Given the description of an element on the screen output the (x, y) to click on. 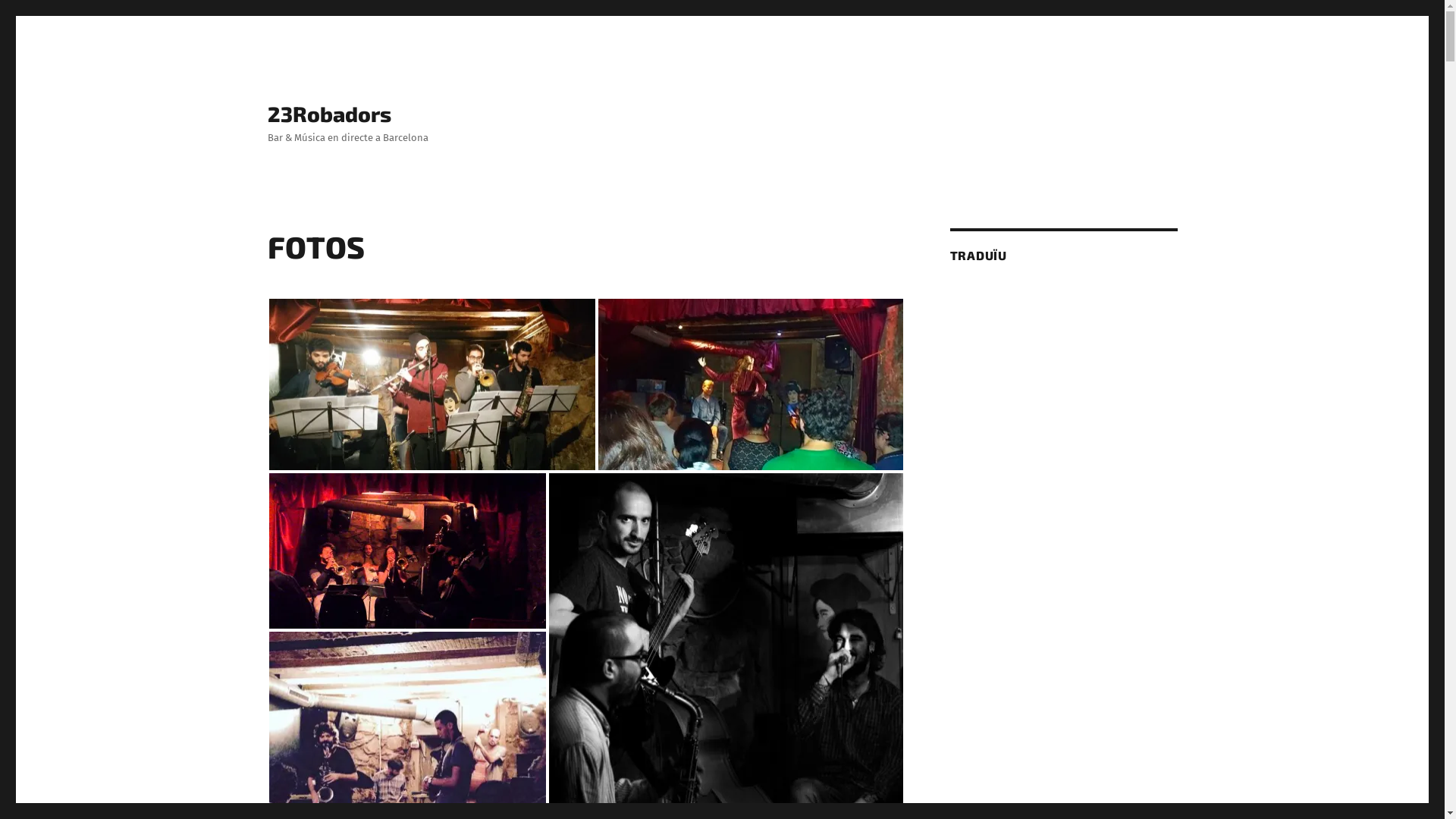
23Robadors Element type: text (328, 113)
maxresdefault (4) Element type: hover (406, 550)
flamenco-at-23-robadors Element type: hover (749, 384)
